Given the description of an element on the screen output the (x, y) to click on. 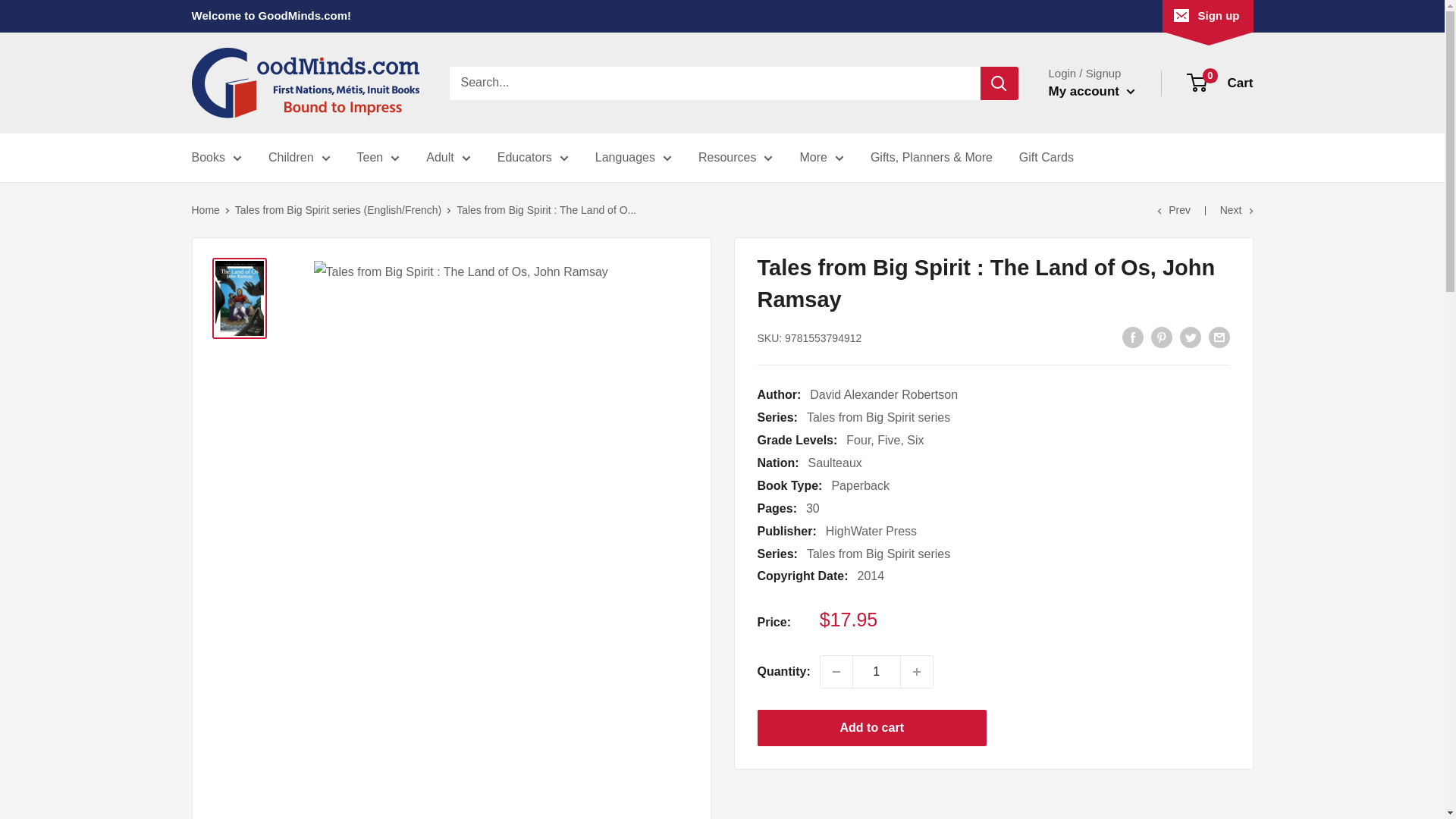
1 (876, 671)
Increase quantity by 1 (917, 671)
Decrease quantity by 1 (836, 671)
Sign up (1206, 15)
